Given the description of an element on the screen output the (x, y) to click on. 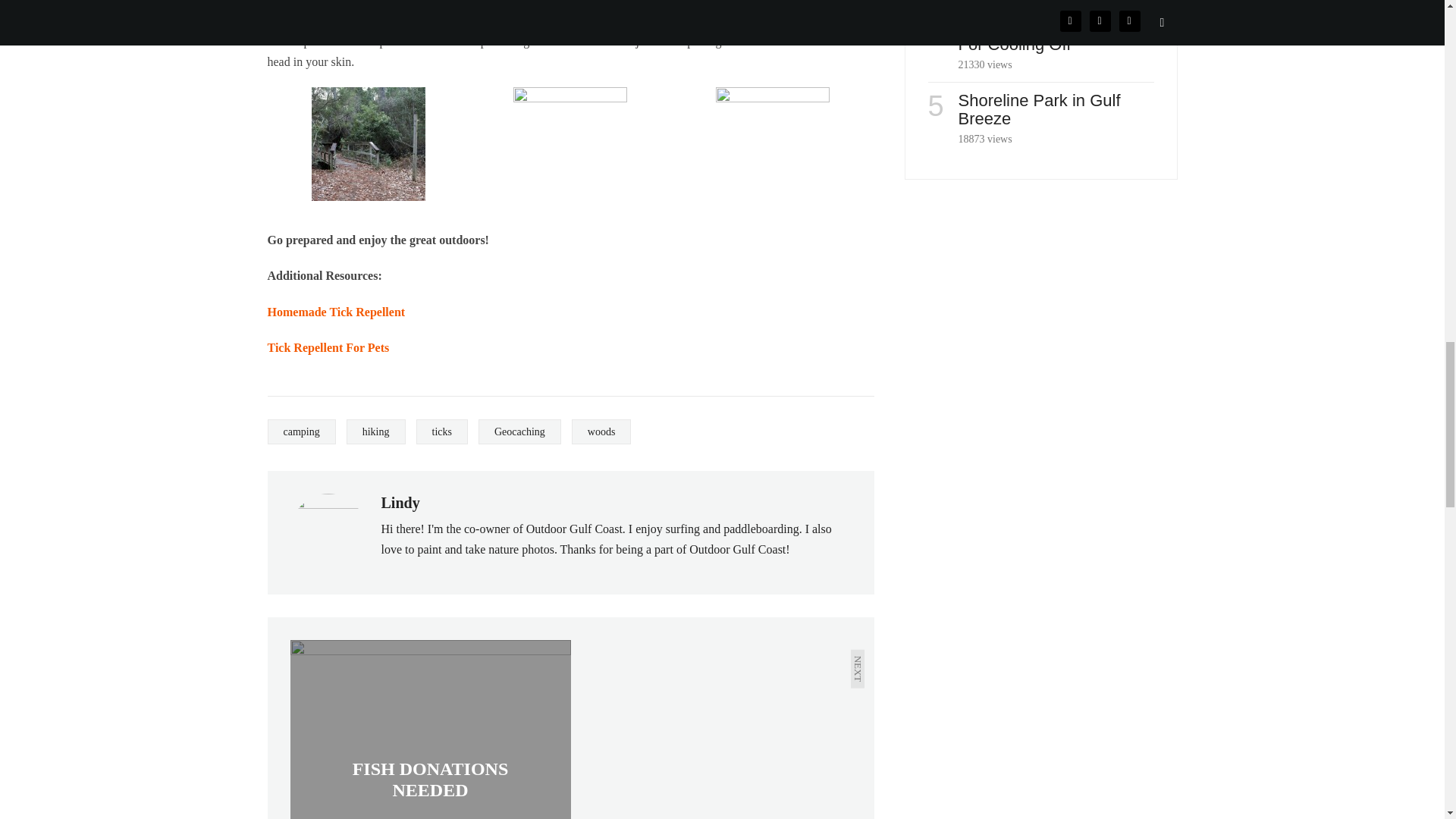
Posts by Lindy (399, 502)
Fish Donations Needed (429, 729)
